Given the description of an element on the screen output the (x, y) to click on. 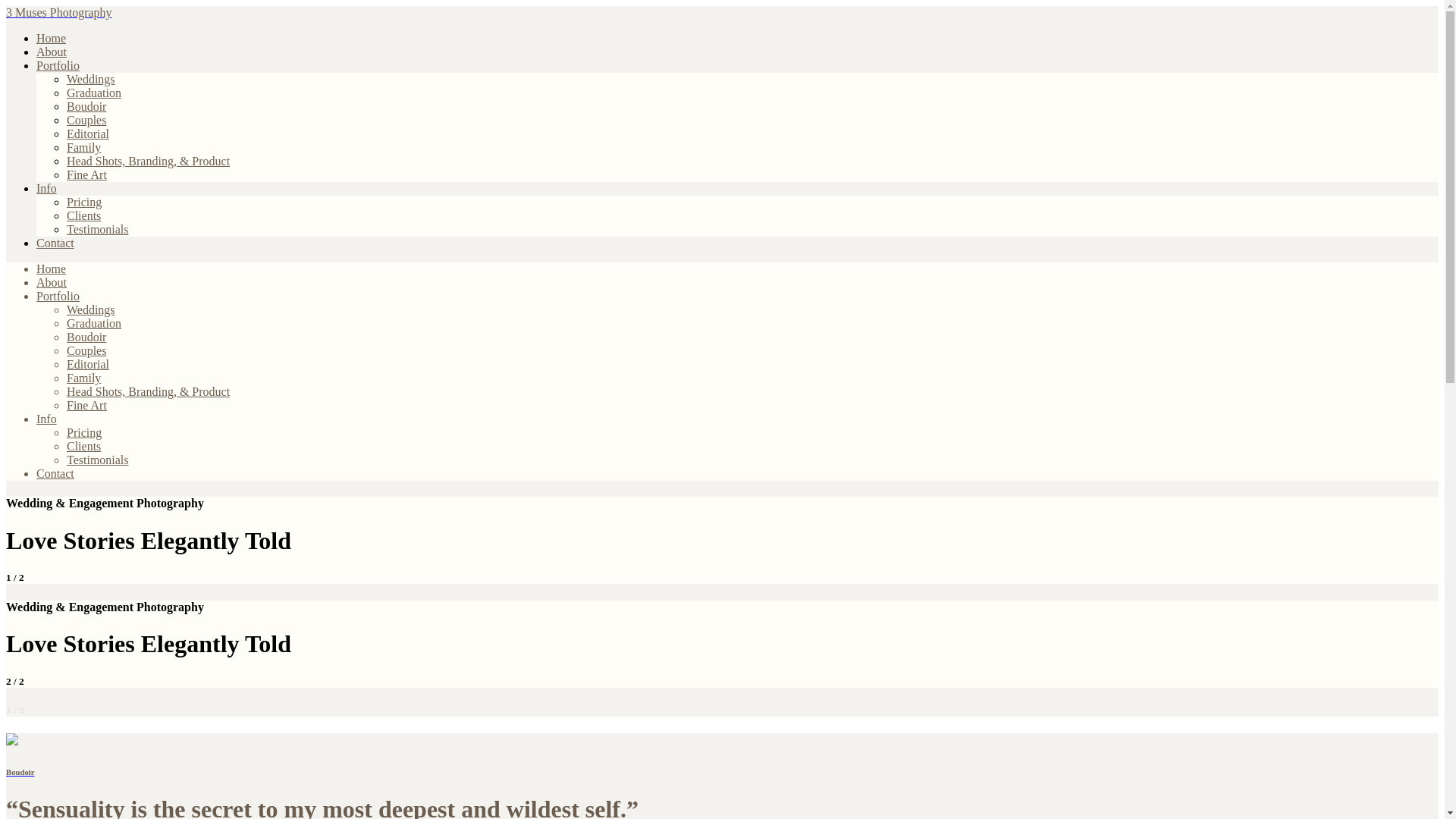
Contact Element type: text (55, 473)
Family Element type: text (83, 377)
3 Muses Photography Element type: text (59, 12)
Contact Element type: text (55, 242)
Head Shots, Branding, & Product Element type: text (147, 391)
Weddings Element type: text (90, 78)
About Element type: text (51, 51)
Couples Element type: text (86, 350)
Info Element type: text (46, 418)
Fine Art Element type: text (86, 174)
Clients Element type: text (83, 445)
Portfolio Element type: text (57, 65)
Portfolio Element type: text (57, 295)
Family Element type: text (83, 147)
Fine Art Element type: text (86, 404)
Graduation Element type: text (93, 92)
Graduation Element type: text (93, 322)
About Element type: text (51, 282)
Editorial Element type: text (87, 133)
Pricing Element type: text (83, 432)
Boudoir Element type: text (86, 336)
Pricing Element type: text (83, 201)
Boudoir Element type: text (86, 106)
Couples Element type: text (86, 119)
Testimonials Element type: text (97, 228)
Editorial Element type: text (87, 363)
Clients Element type: text (83, 215)
Weddings Element type: text (90, 309)
Home Element type: text (50, 37)
Testimonials Element type: text (97, 459)
Home Element type: text (50, 268)
Info Element type: text (46, 188)
Head Shots, Branding, & Product Element type: text (147, 160)
